Given the description of an element on the screen output the (x, y) to click on. 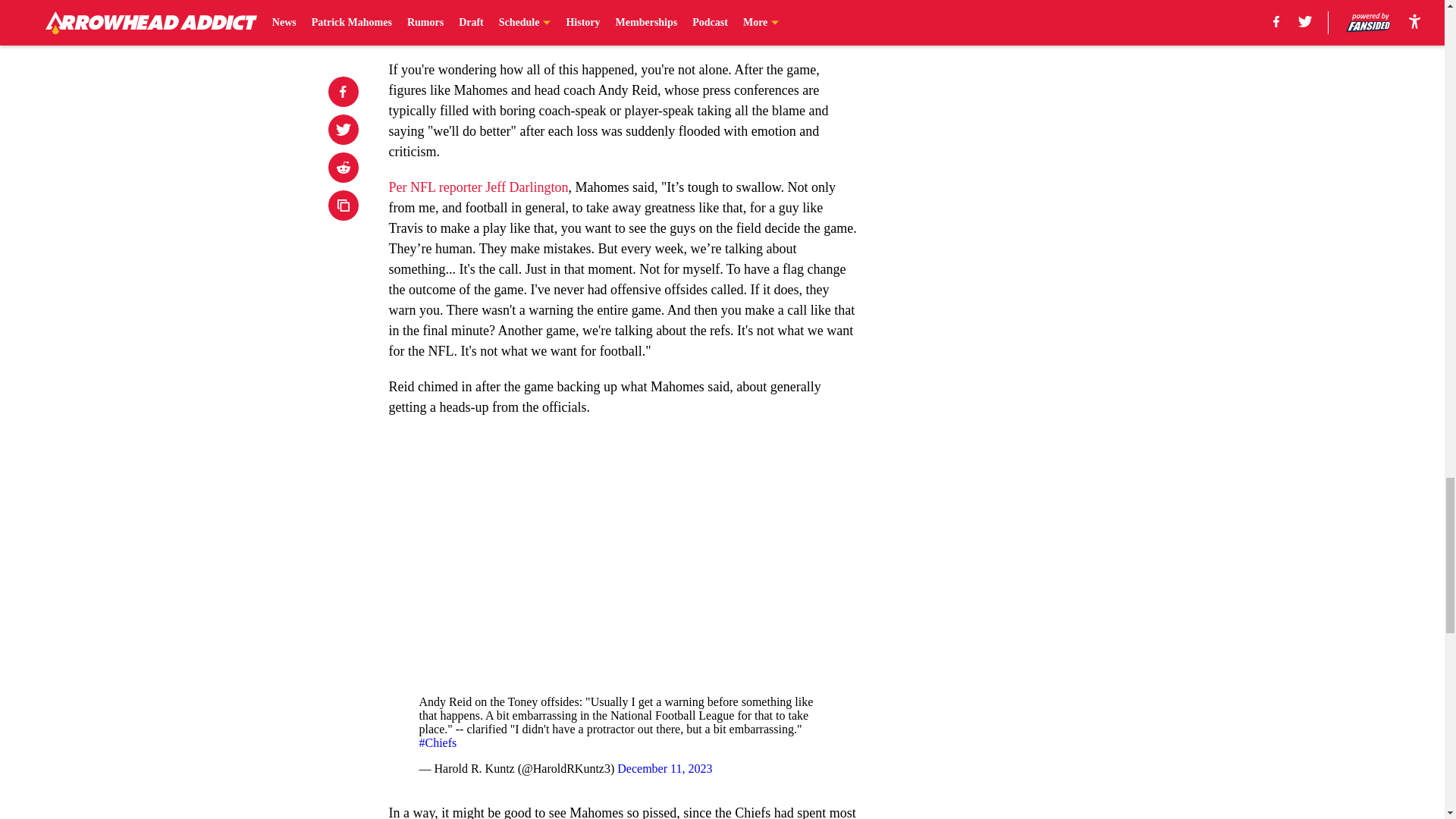
Per NFL reporter Jeff Darlington (477, 186)
December 11, 2023 (664, 768)
